Given the description of an element on the screen output the (x, y) to click on. 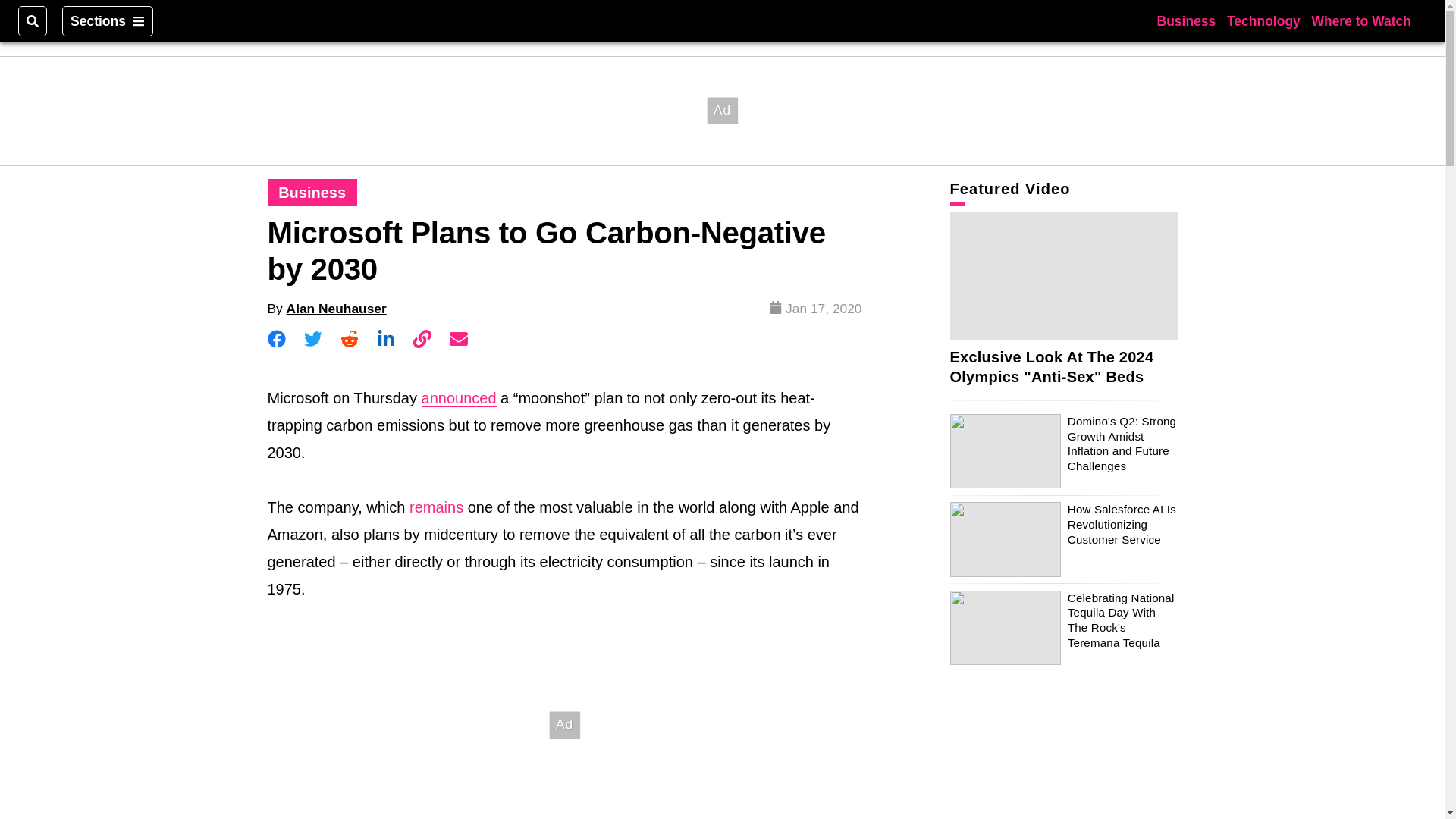
Business (1186, 20)
Sections (107, 20)
Technology (1263, 20)
announced (459, 398)
Where to Watch (1360, 20)
Alan Neuhauser (336, 308)
Business (312, 192)
remains (436, 507)
